Given the description of an element on the screen output the (x, y) to click on. 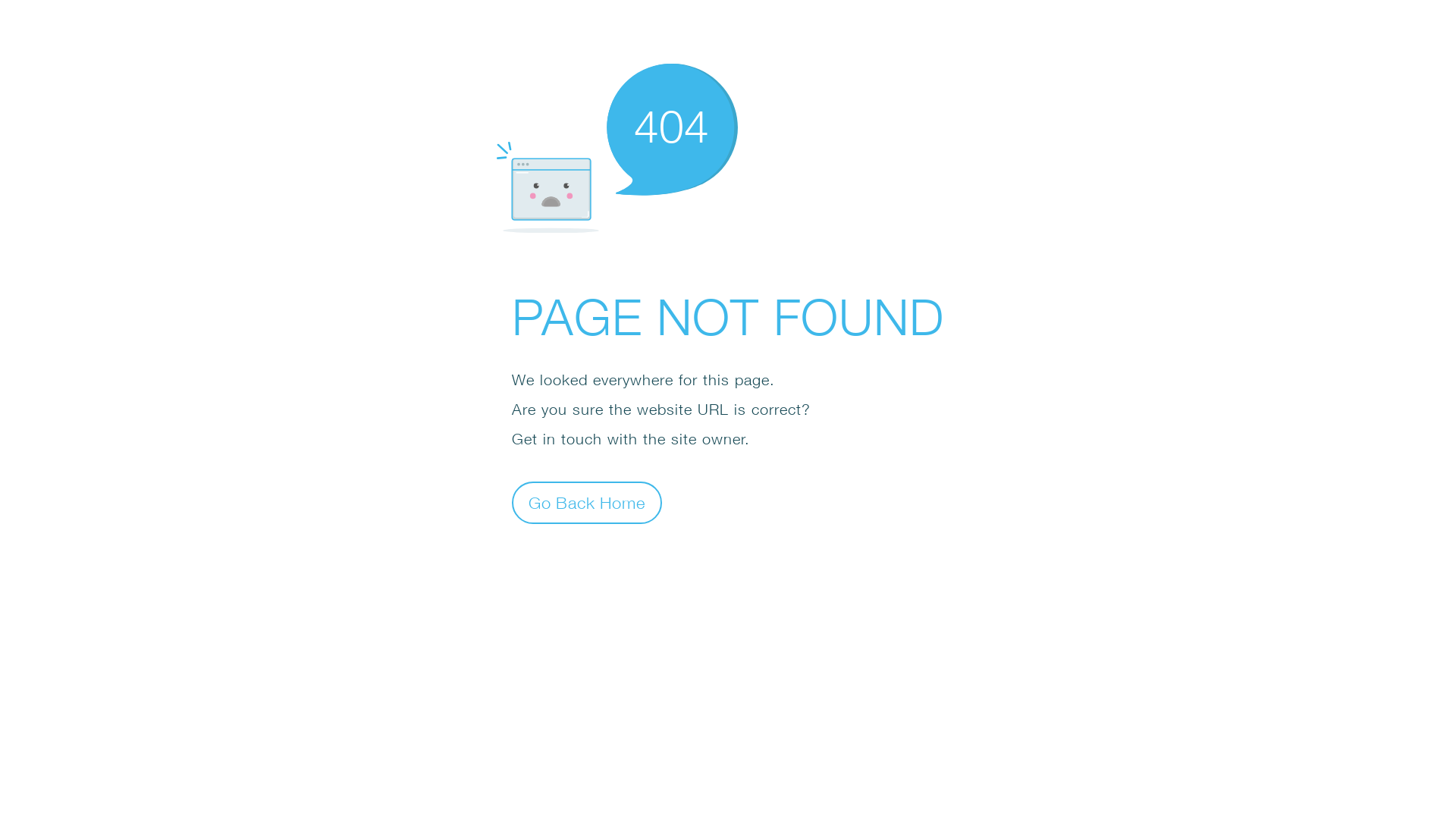
Go Back Home Element type: text (586, 502)
